Given the description of an element on the screen output the (x, y) to click on. 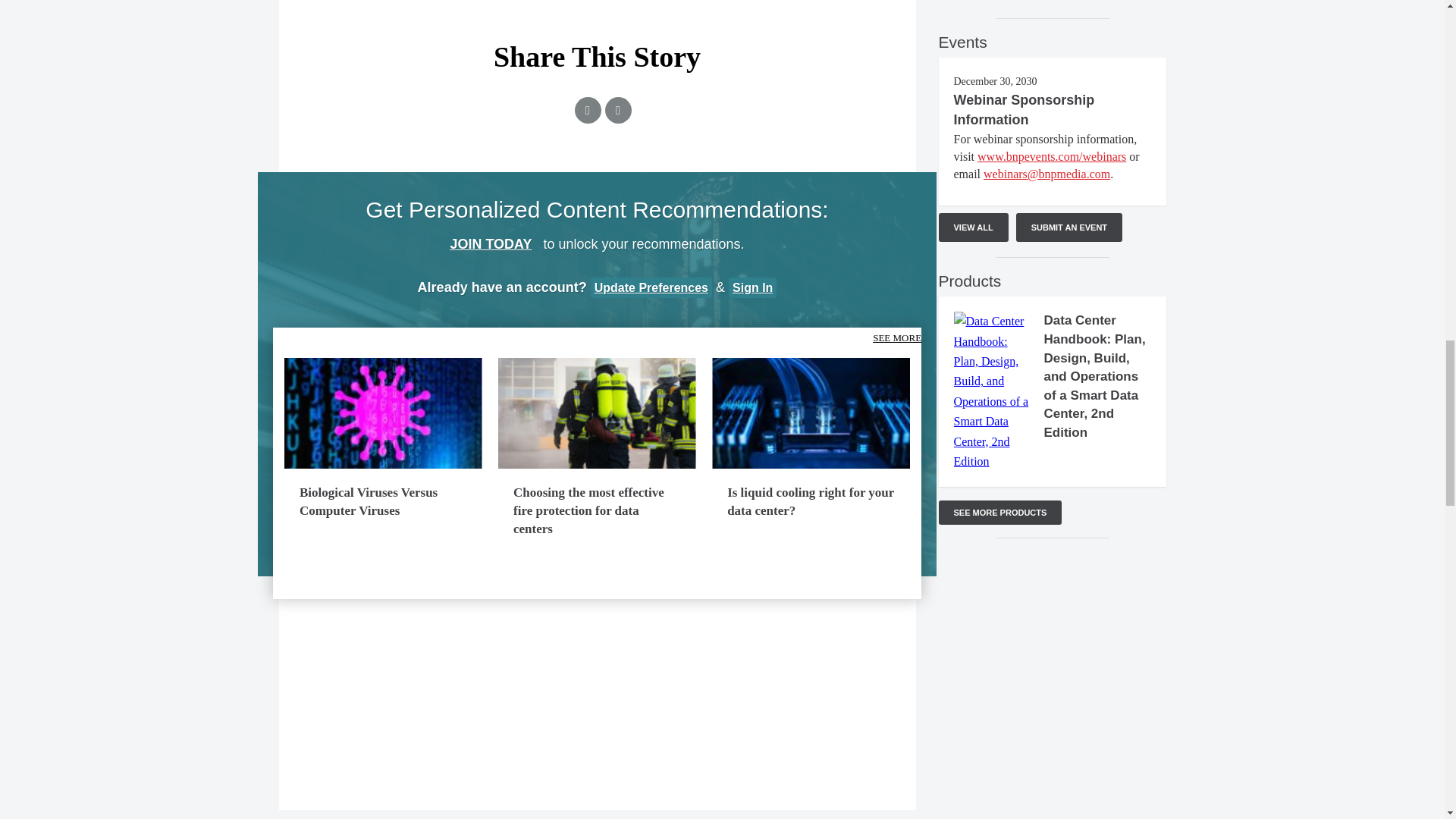
Webinar Sponsorship Information (1023, 109)
Interaction questions (597, 694)
Virus main (382, 412)
Liquid cooling main image (810, 412)
Interaction questions (1052, 610)
Fire suppression technologies (596, 412)
